Given the description of an element on the screen output the (x, y) to click on. 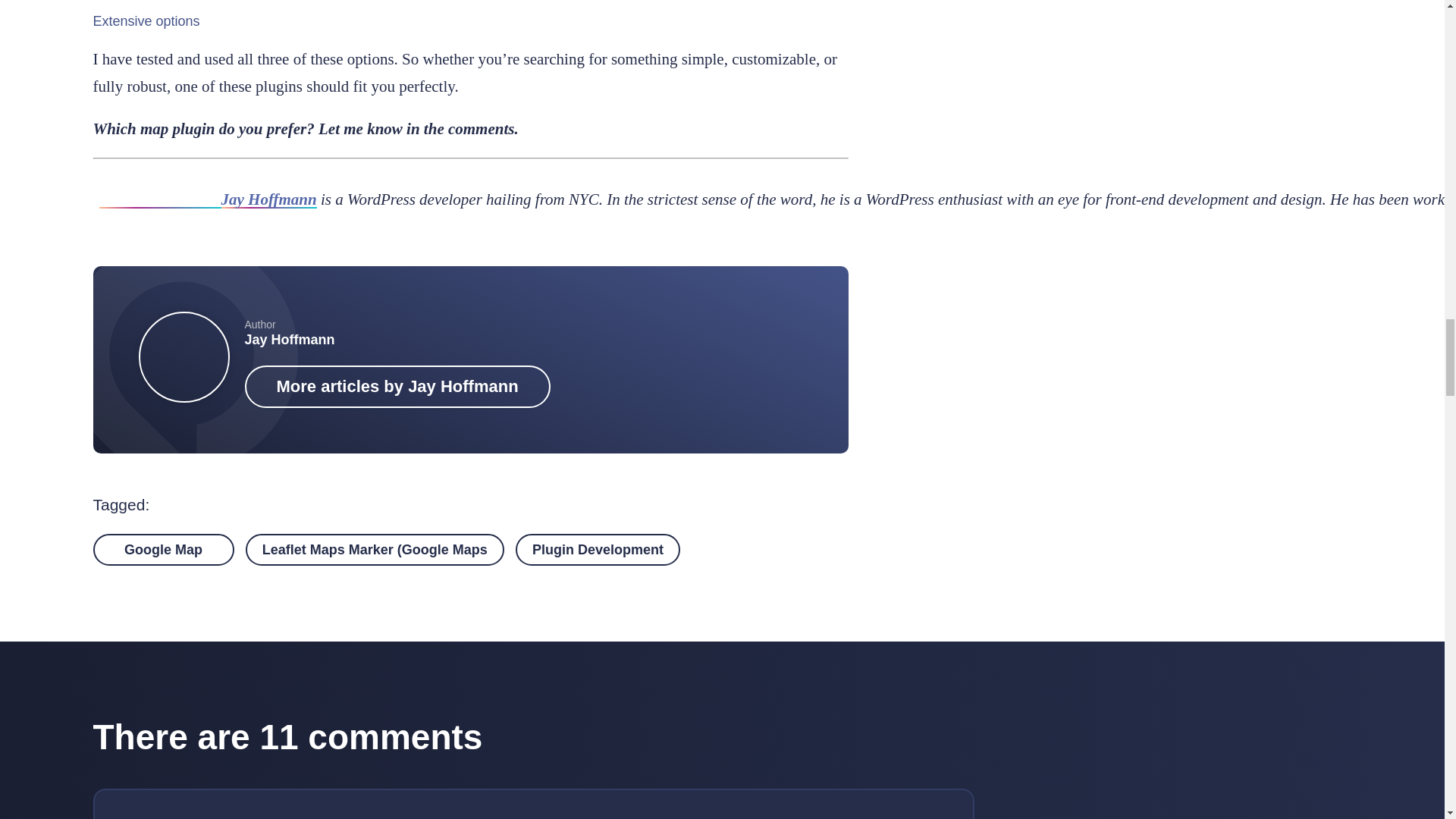
Plugin Development (597, 549)
Jay Hoffmann (269, 199)
Google Map (162, 549)
More articles by Jay Hoffmann (397, 386)
Jay Hoffmann (289, 339)
